Given the description of an element on the screen output the (x, y) to click on. 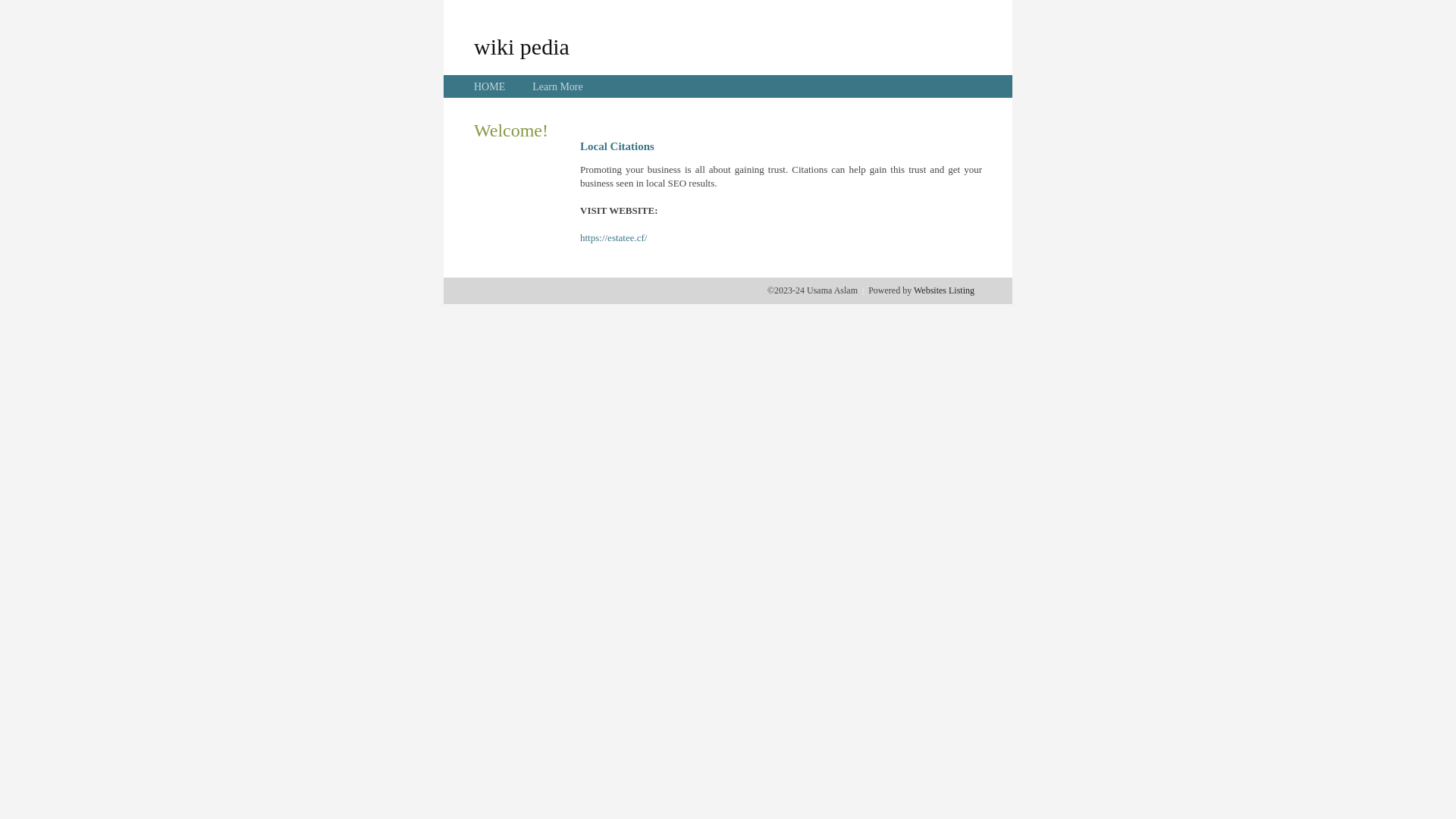
Learn More Element type: text (557, 86)
HOME Element type: text (489, 86)
wiki pedia Element type: text (521, 46)
https://estatee.cf/ Element type: text (613, 237)
Websites Listing Element type: text (943, 290)
